Given the description of an element on the screen output the (x, y) to click on. 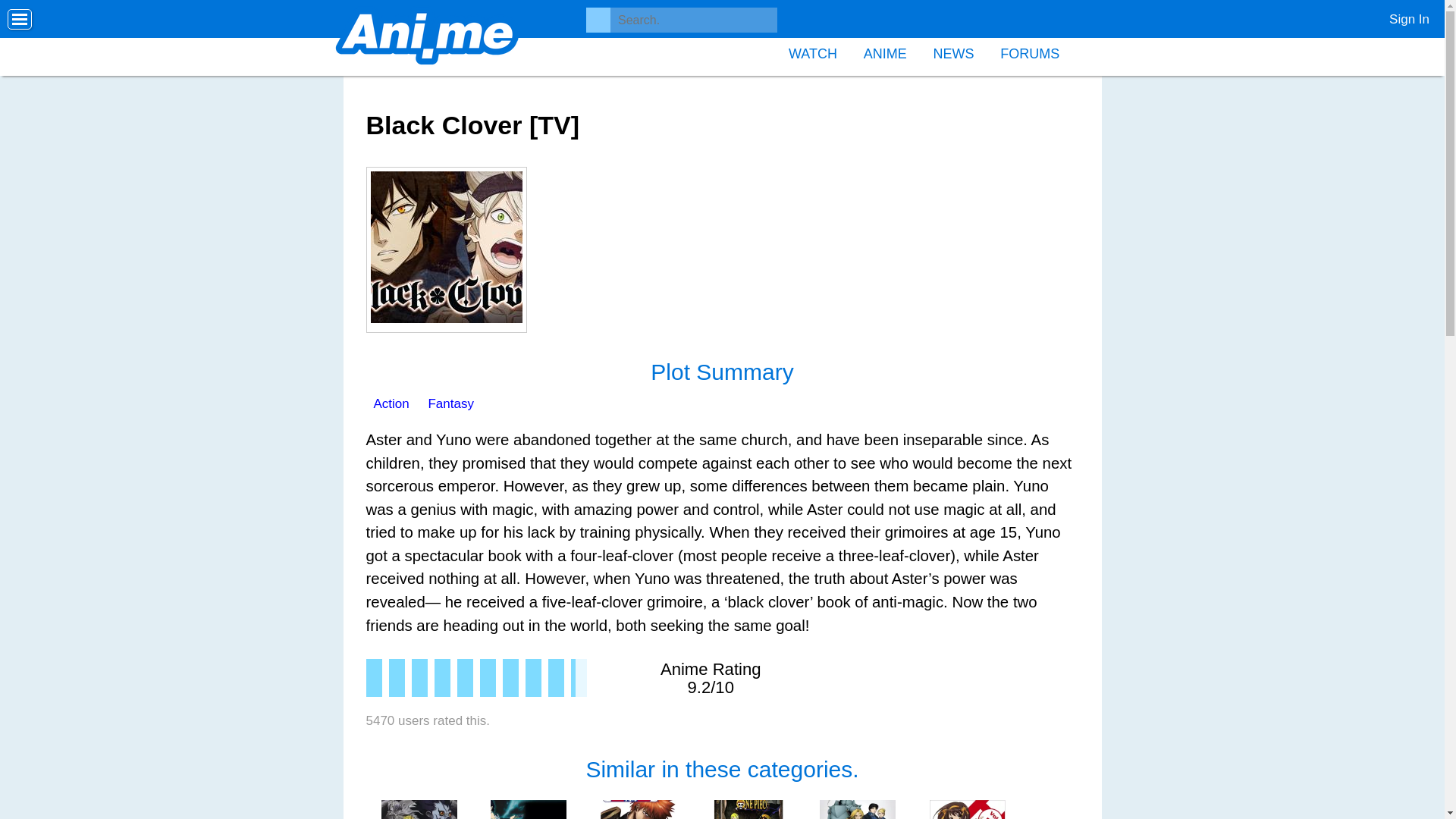
FORUMS (1029, 52)
Sign In (1402, 15)
ANIME (884, 52)
Fantasy (450, 403)
Options Menu (19, 19)
Action (390, 403)
Home (427, 38)
Search (28, 12)
WATCH (812, 52)
NEWS (953, 52)
